Given the description of an element on the screen output the (x, y) to click on. 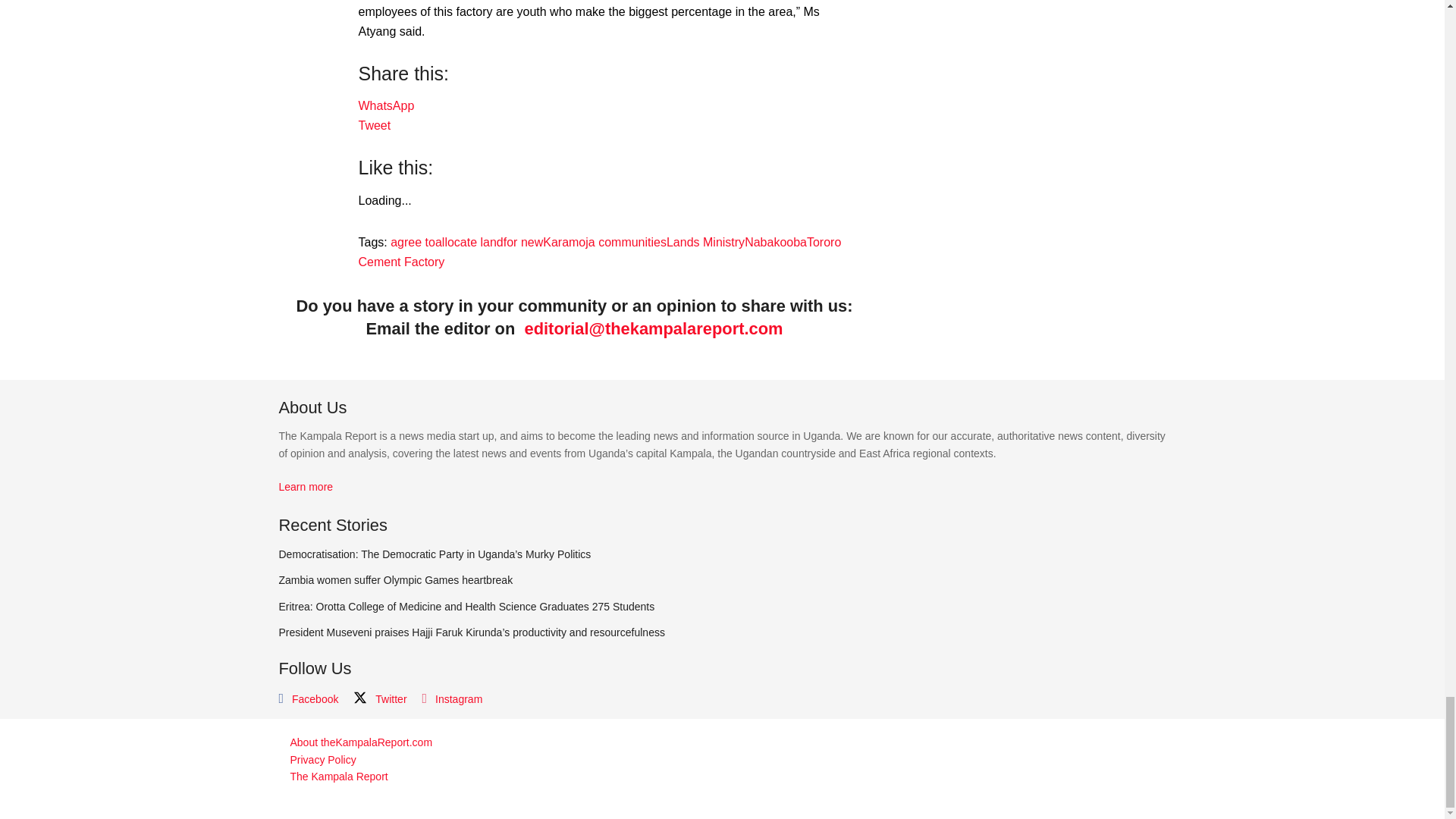
Click to share on WhatsApp (385, 105)
